Given the description of an element on the screen output the (x, y) to click on. 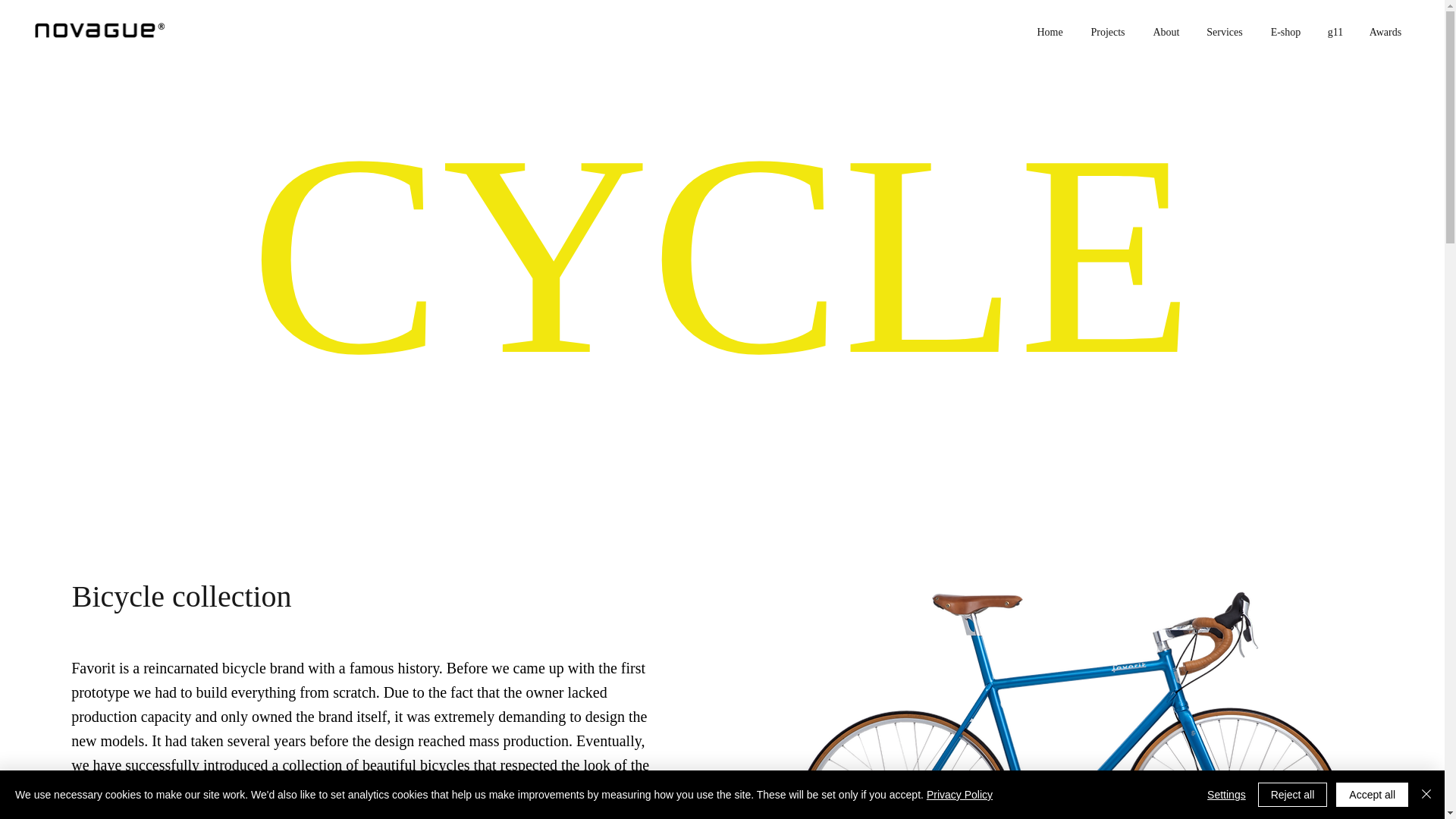
About (1166, 30)
Accept all (1371, 794)
Awards (1384, 30)
Projects (1107, 30)
g11 (1334, 30)
E-shop (1285, 30)
Reject all (1292, 794)
Home (1049, 30)
Services (1224, 30)
Privacy Policy (959, 794)
